Given the description of an element on the screen output the (x, y) to click on. 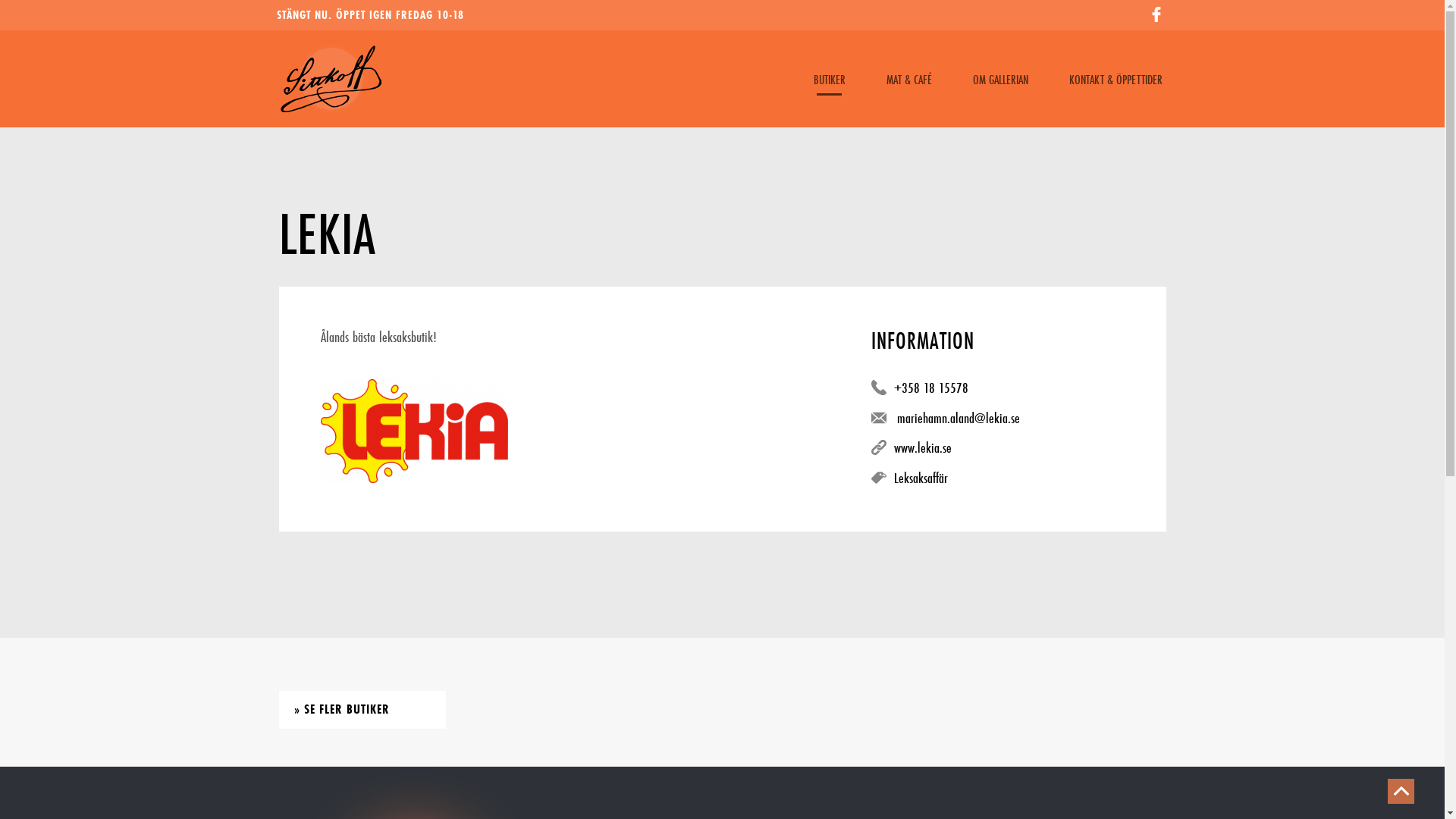
BUTIKER Element type: text (828, 78)
mariehamn.aland@lekia.se Element type: text (958, 417)
OM GALLERIAN Element type: text (999, 78)
www.lekia.se Element type: text (922, 447)
Sittkoff Gallerian Element type: text (331, 78)
+358 18 15578 Element type: text (931, 387)
Facebook Element type: hover (1155, 13)
